Given the description of an element on the screen output the (x, y) to click on. 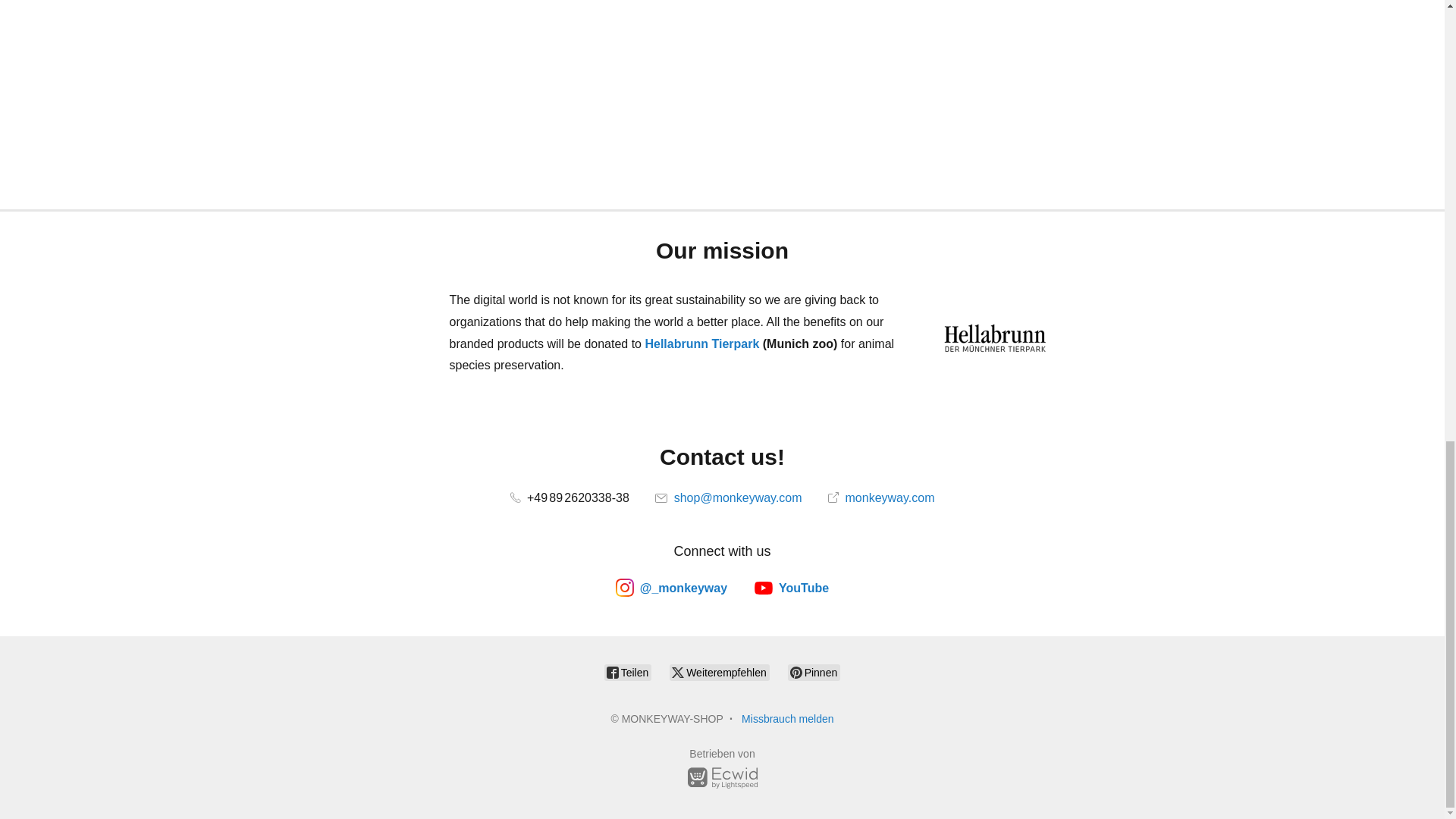
Teilen (627, 672)
Missbrauch melden (786, 718)
YouTube (791, 587)
Hellabrunn Tierpark (701, 343)
monkeyway.com (881, 497)
Betrieben von (722, 770)
Pinnen (813, 672)
Weiterempfehlen (718, 672)
